Given the description of an element on the screen output the (x, y) to click on. 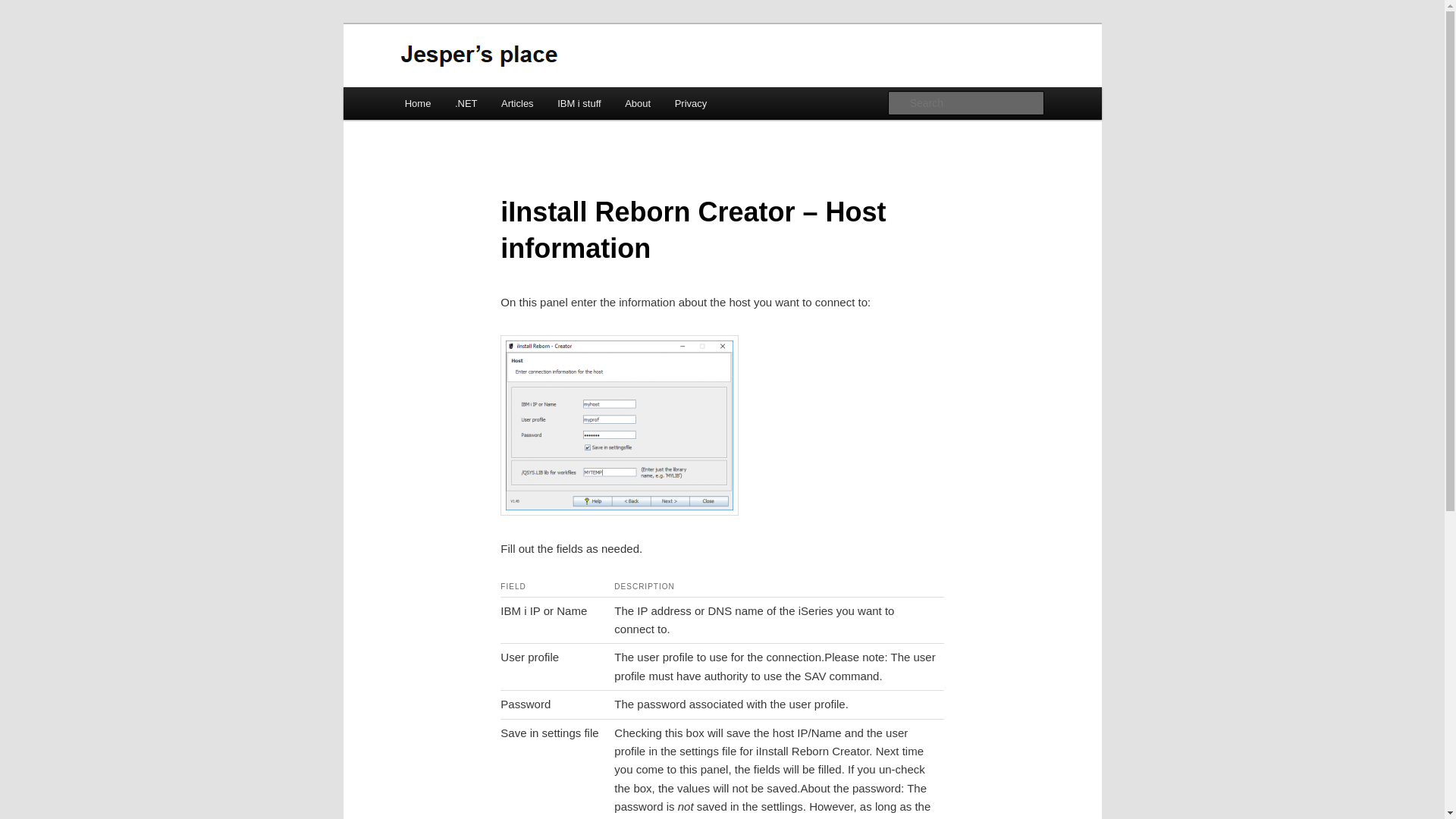
Articles (516, 102)
Search (24, 8)
Home (417, 102)
IBM i stuff (578, 102)
Jesper's place (478, 78)
Privacy (690, 102)
About (637, 102)
.NET (465, 102)
